Given the description of an element on the screen output the (x, y) to click on. 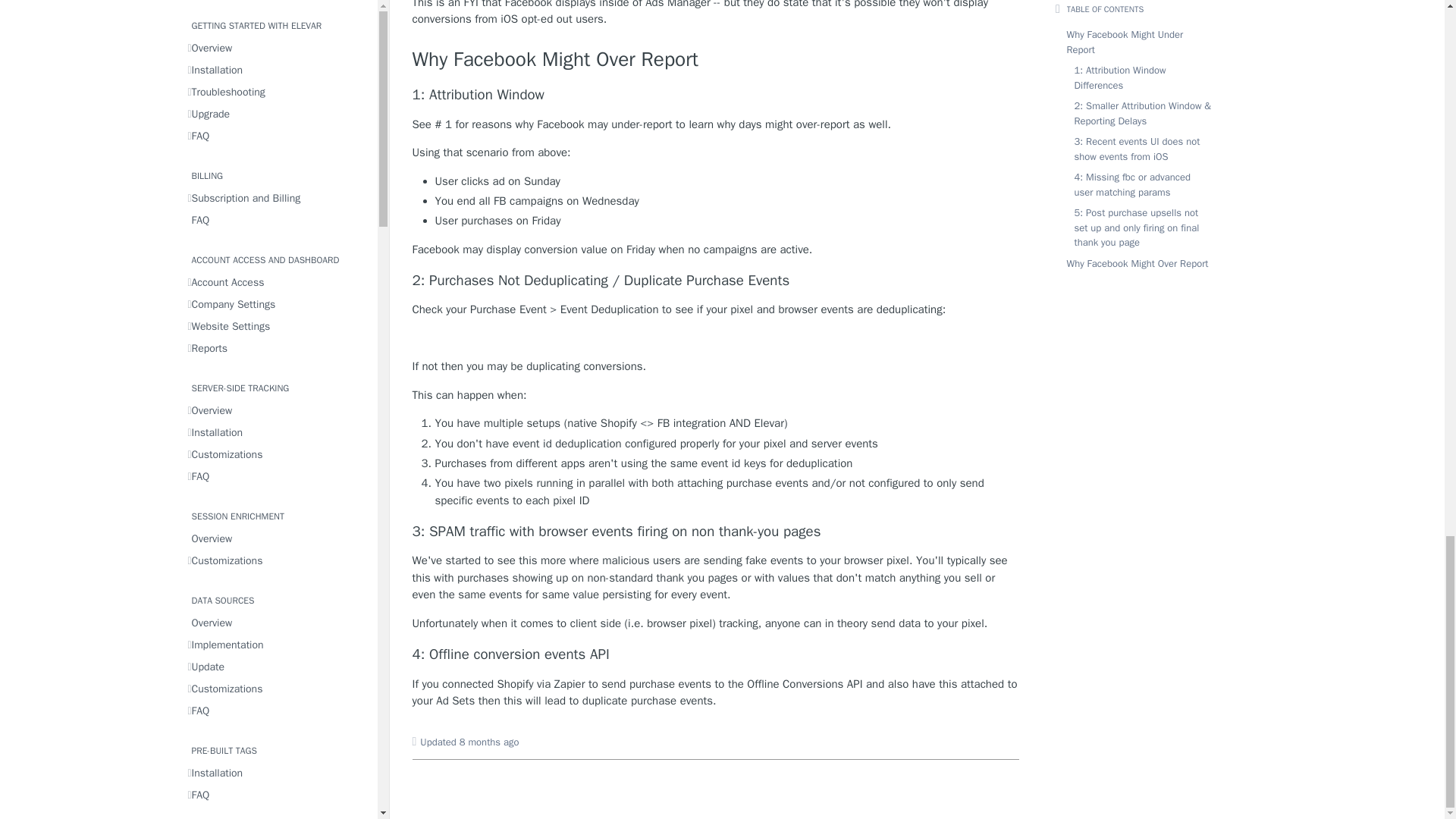
4: Offline conversion events API (715, 654)
1: Attribution Window (715, 95)
Why Facebook Might Over Report (715, 59)
